Given the description of an element on the screen output the (x, y) to click on. 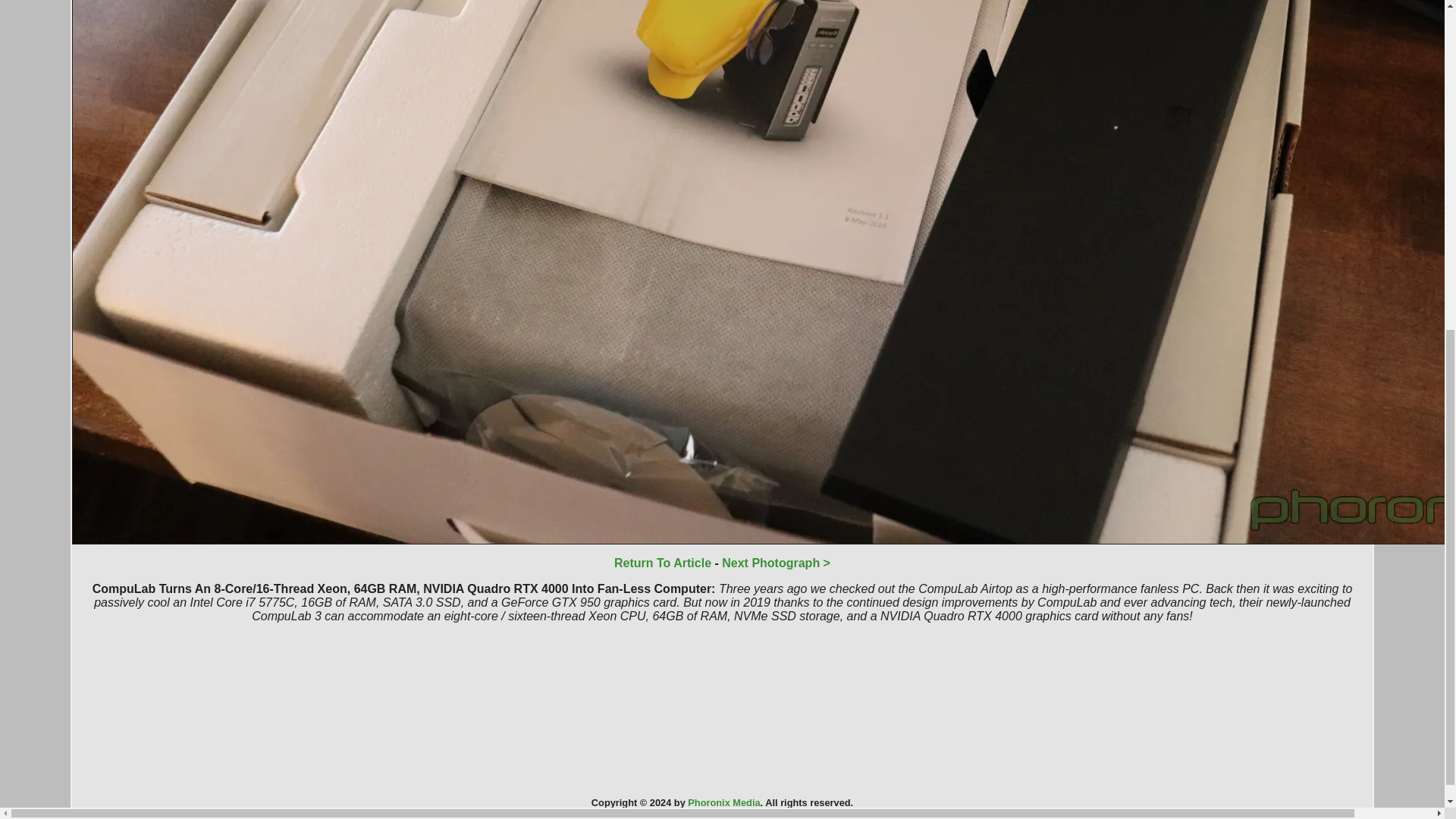
Phoronix Media (723, 802)
Return To Article (662, 562)
